Given the description of an element on the screen output the (x, y) to click on. 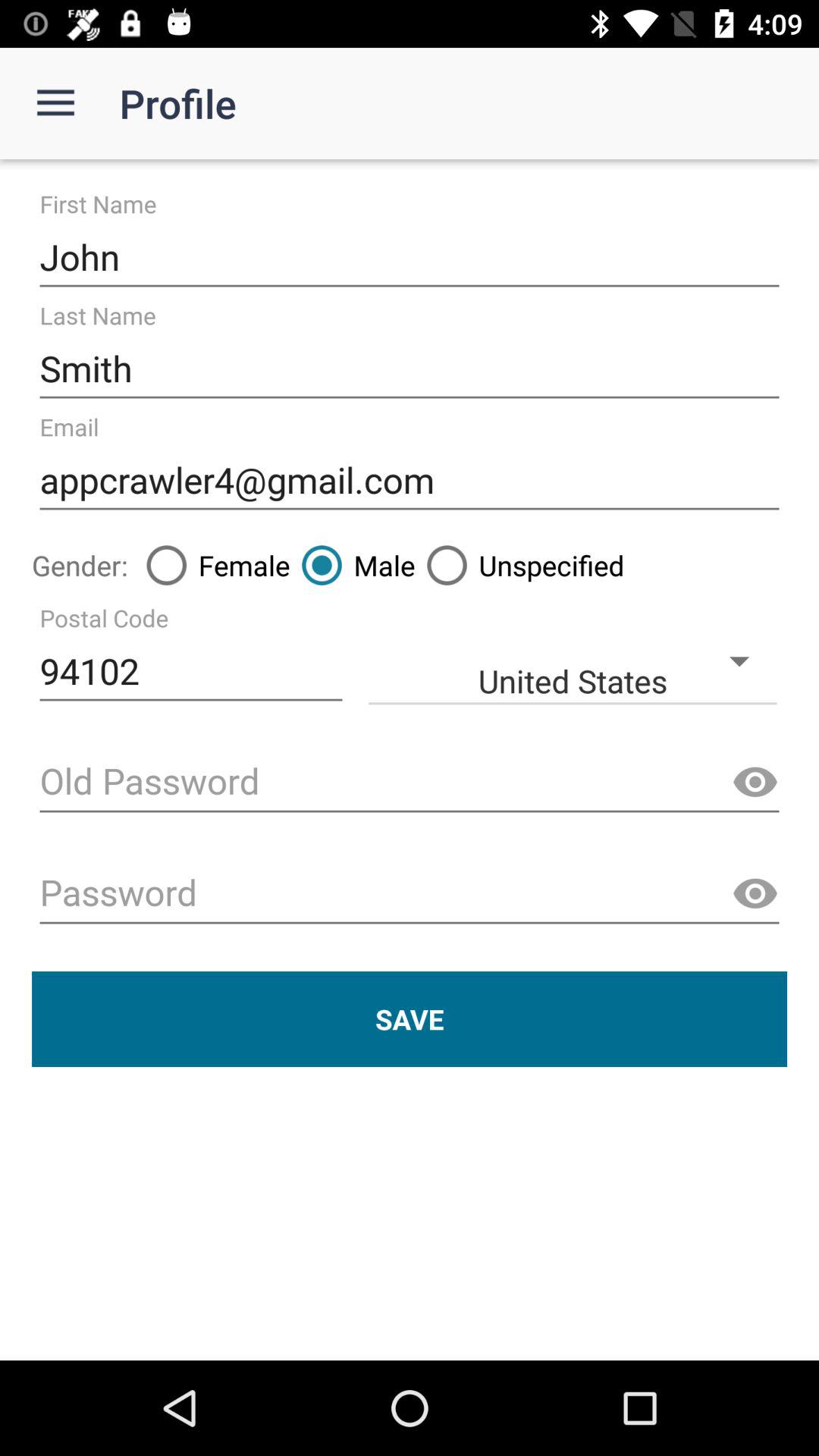
hiden (755, 782)
